Given the description of an element on the screen output the (x, y) to click on. 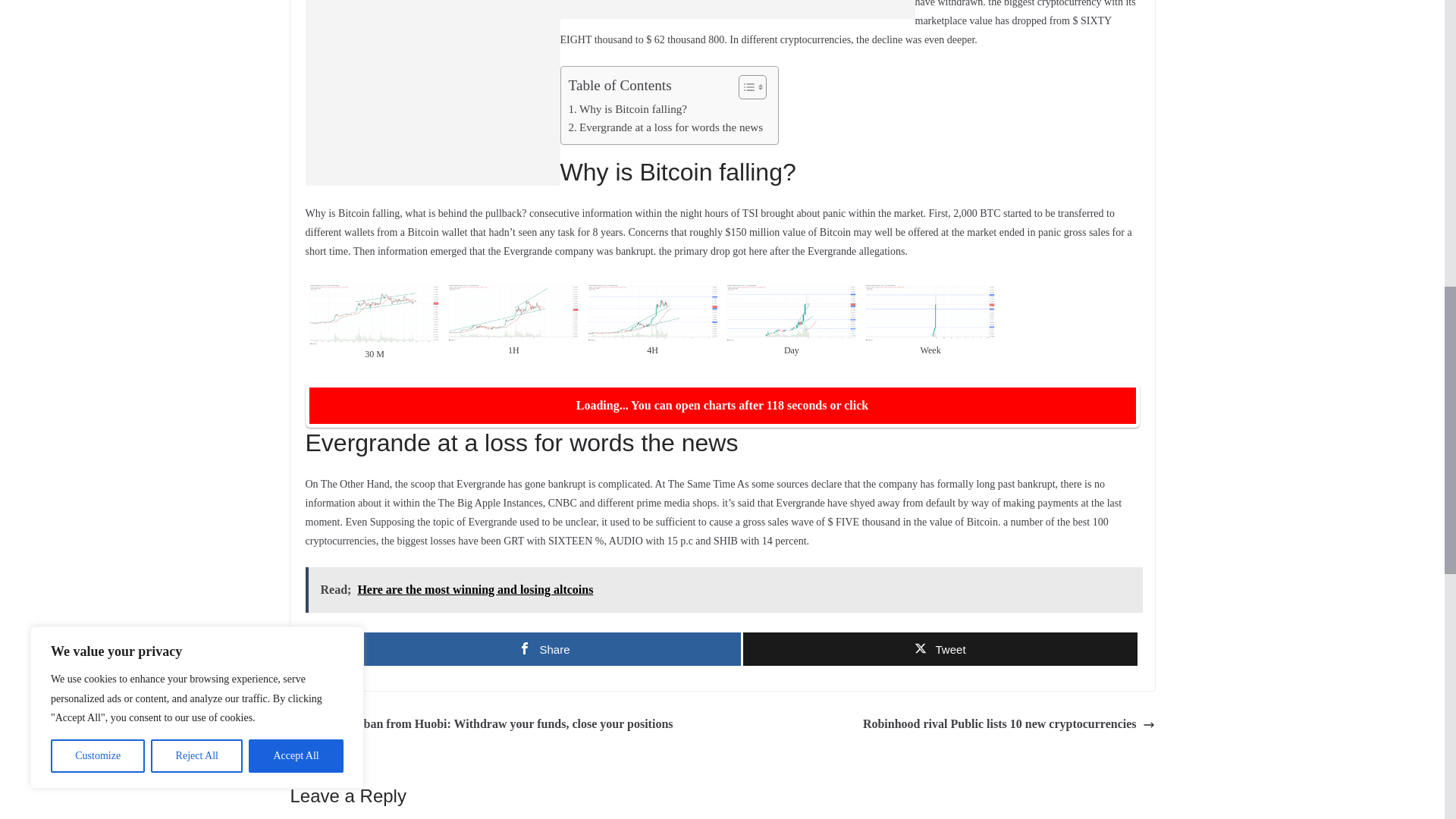
Tweet (939, 648)
Evergrande at a loss for words the news (665, 126)
Share (544, 648)
Why is Bitcoin falling? (628, 108)
Why is Bitcoin falling? (628, 108)
Read;  Here are the most winning and losing altcoins (722, 590)
Advertisement (736, 9)
Evergrande at a loss for words the news (665, 126)
Advertisement (431, 92)
